Given the description of an element on the screen output the (x, y) to click on. 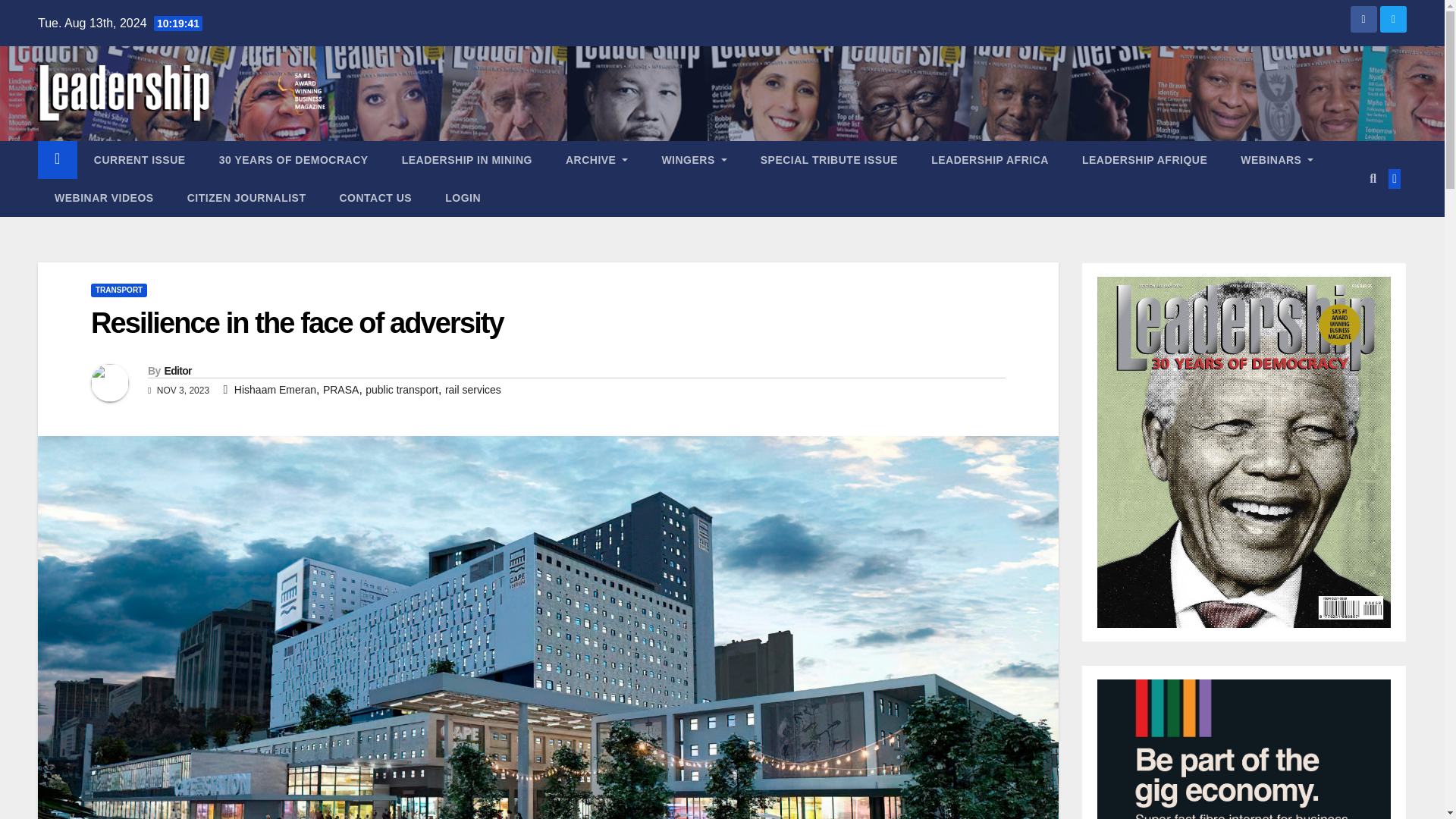
ARCHIVE (596, 159)
Leadership in Mining (466, 159)
WINGERS (693, 159)
LEADERSHIP IN MINING (466, 159)
30 Years of Democracy (293, 159)
CURRENT ISSUE (139, 159)
30 YEARS OF DEMOCRACY (293, 159)
LEADERSHIP AFRICA (989, 159)
WEBINARS (1277, 159)
LEADERSHIP AFRIQUE (1144, 159)
